Given the description of an element on the screen output the (x, y) to click on. 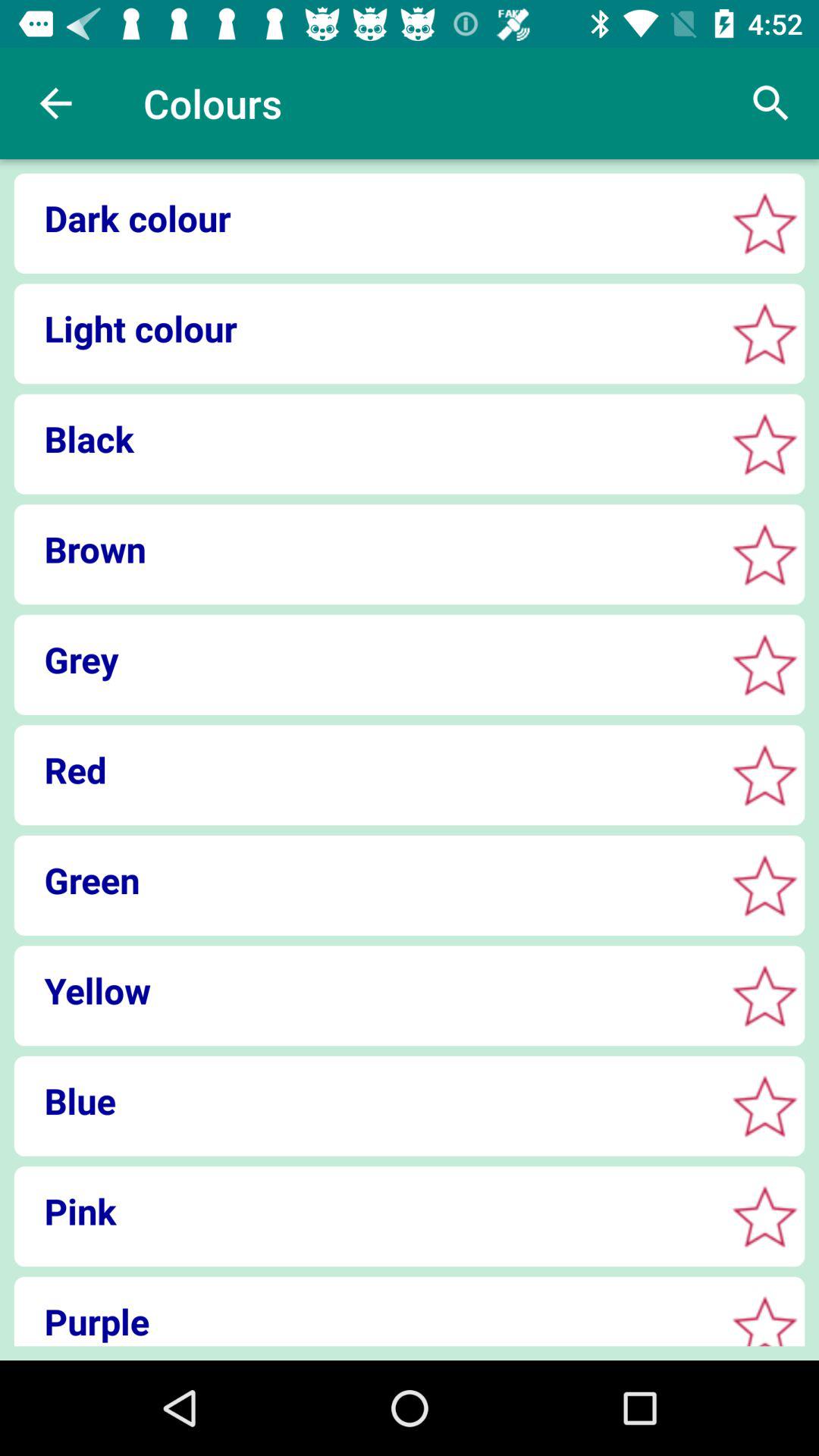
choose item above brown (364, 438)
